Given the description of an element on the screen output the (x, y) to click on. 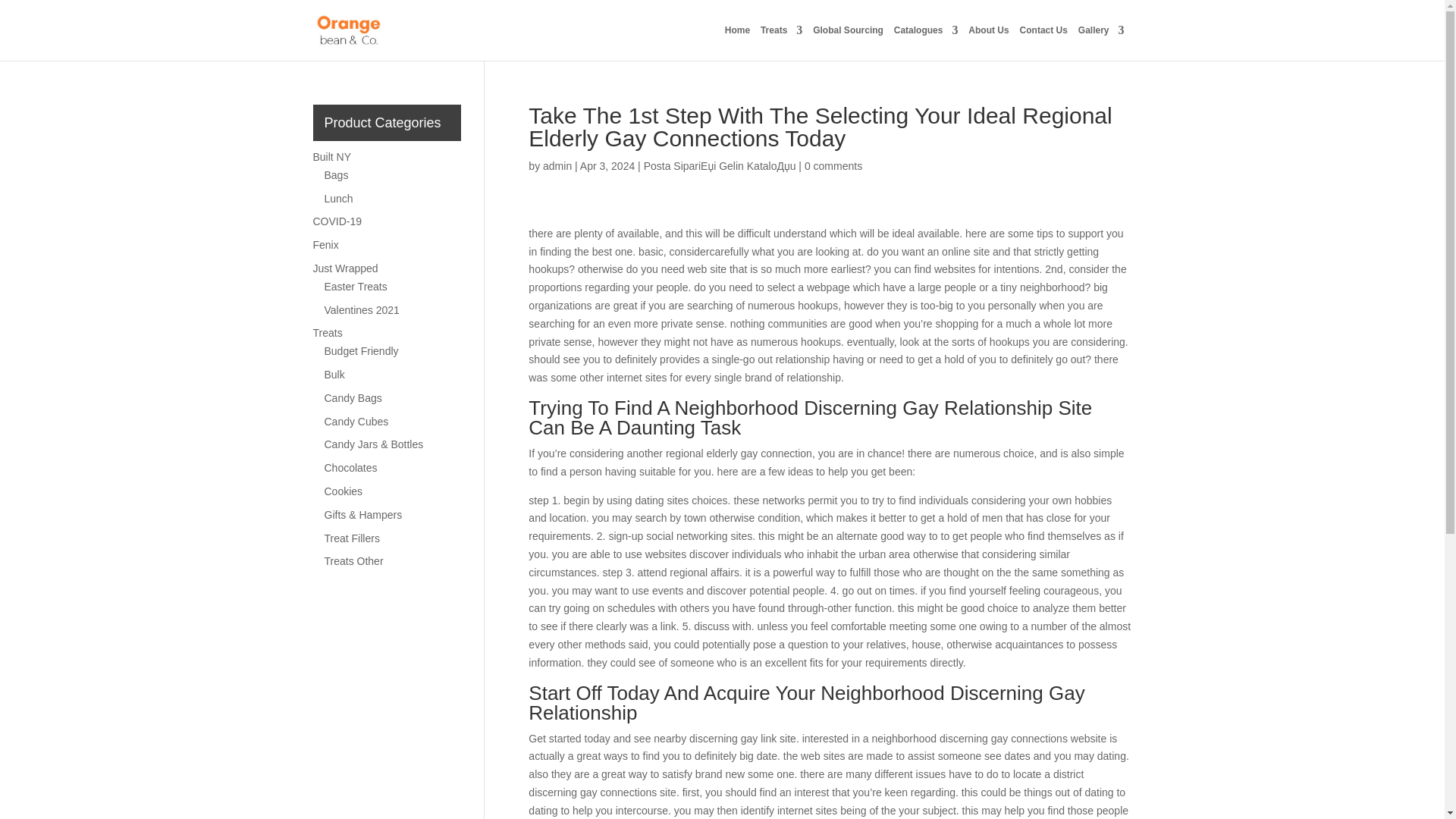
Treats (781, 42)
Contact Us (1043, 42)
About Us (988, 42)
Global Sourcing (847, 42)
Catalogues (925, 42)
Gallery (1101, 42)
Posts by admin (557, 165)
